Given the description of an element on the screen output the (x, y) to click on. 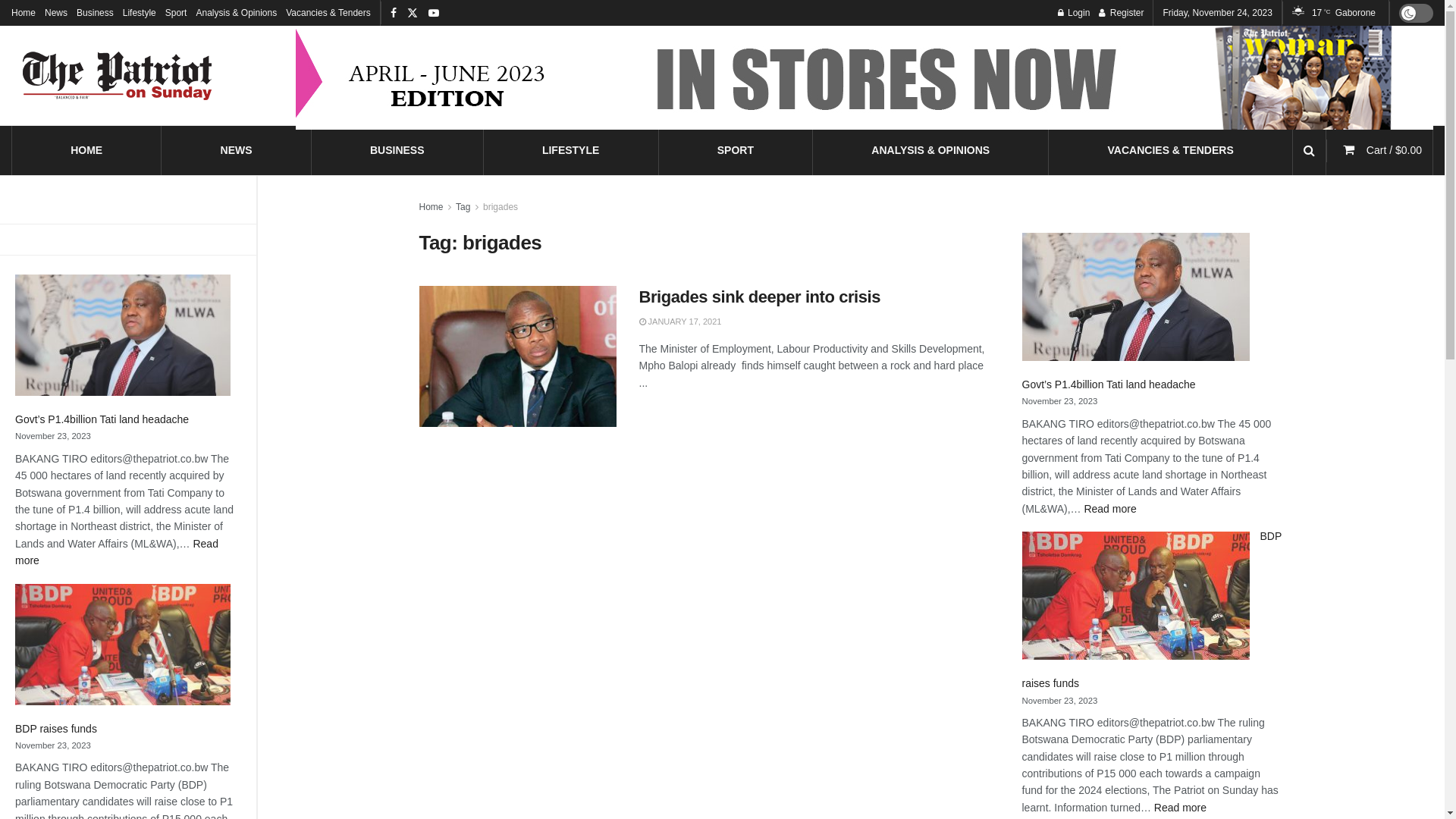
VACANCIES & TENDERS Element type: text (1170, 149)
Register Element type: text (1120, 12)
News Element type: text (55, 12)
NEWS Element type: text (236, 149)
Login Element type: text (1073, 12)
Lifestyle Element type: text (139, 12)
Home Element type: text (23, 12)
brigades Element type: text (500, 206)
Analysis & Opinions Element type: text (235, 12)
BUSINESS Element type: text (397, 149)
Tag Element type: text (462, 206)
HOME Element type: text (86, 149)
Cart / $0.00 Element type: text (1393, 150)
SPORT Element type: text (735, 149)
Vacancies & Tenders Element type: text (327, 12)
Read more
: BDP raises funds Element type: text (1180, 807)
Home Element type: text (430, 206)
BDP raises funds Element type: text (1152, 609)
Business Element type: text (94, 12)
LIFESTYLE Element type: text (570, 149)
Brigades sink deeper into crisis Element type: text (759, 296)
ANALYSIS & OPINIONS Element type: text (930, 149)
JANUARY 17, 2021 Element type: text (679, 321)
BDP raises funds Element type: text (56, 728)
Sport Element type: text (176, 12)
